Given the description of an element on the screen output the (x, y) to click on. 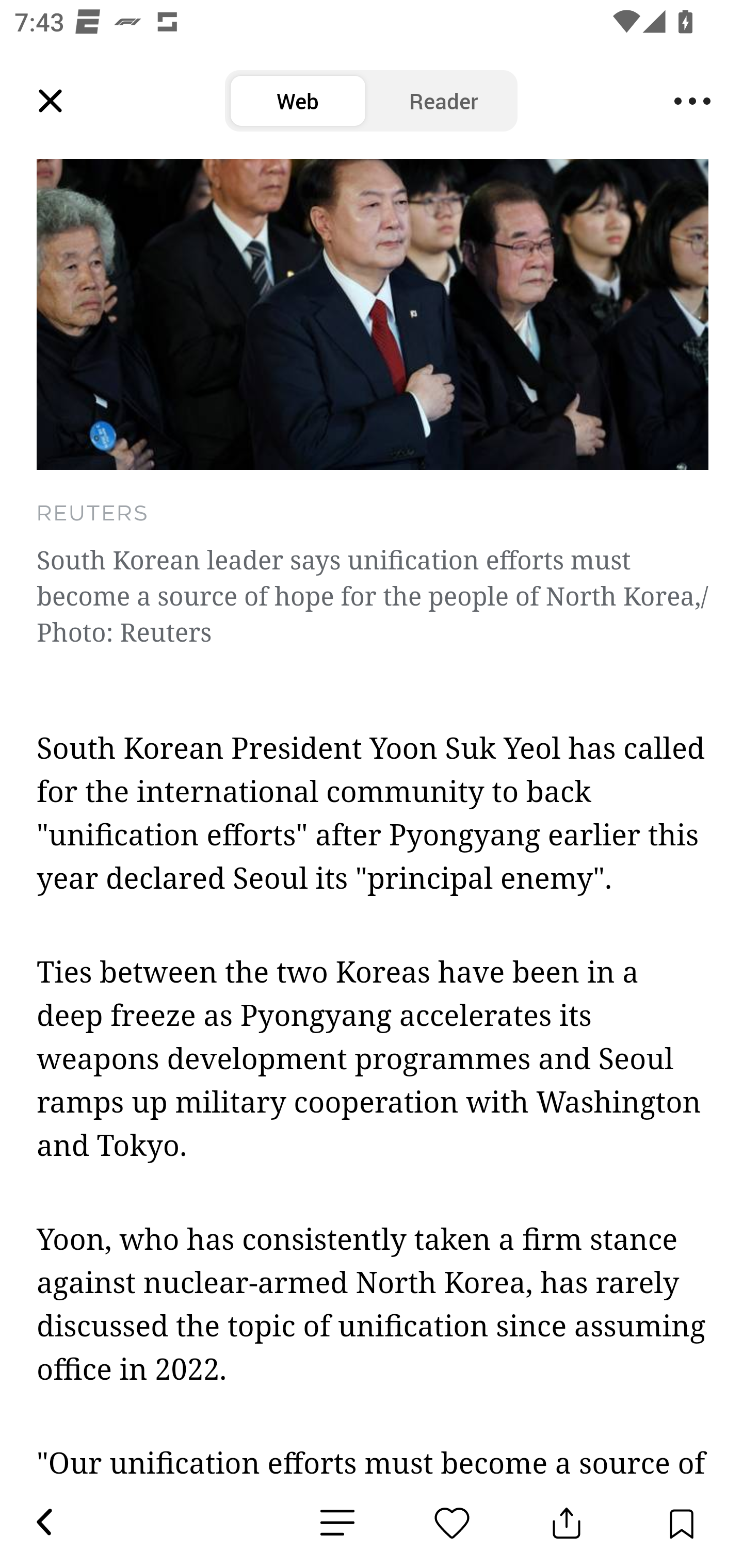
Leading Icon (50, 101)
Reader (443, 101)
Menu (692, 101)
Back Button (43, 1523)
News Detail Emotion (451, 1523)
Share Button (566, 1523)
Save Button (680, 1523)
News Detail Emotion (337, 1523)
